Given the description of an element on the screen output the (x, y) to click on. 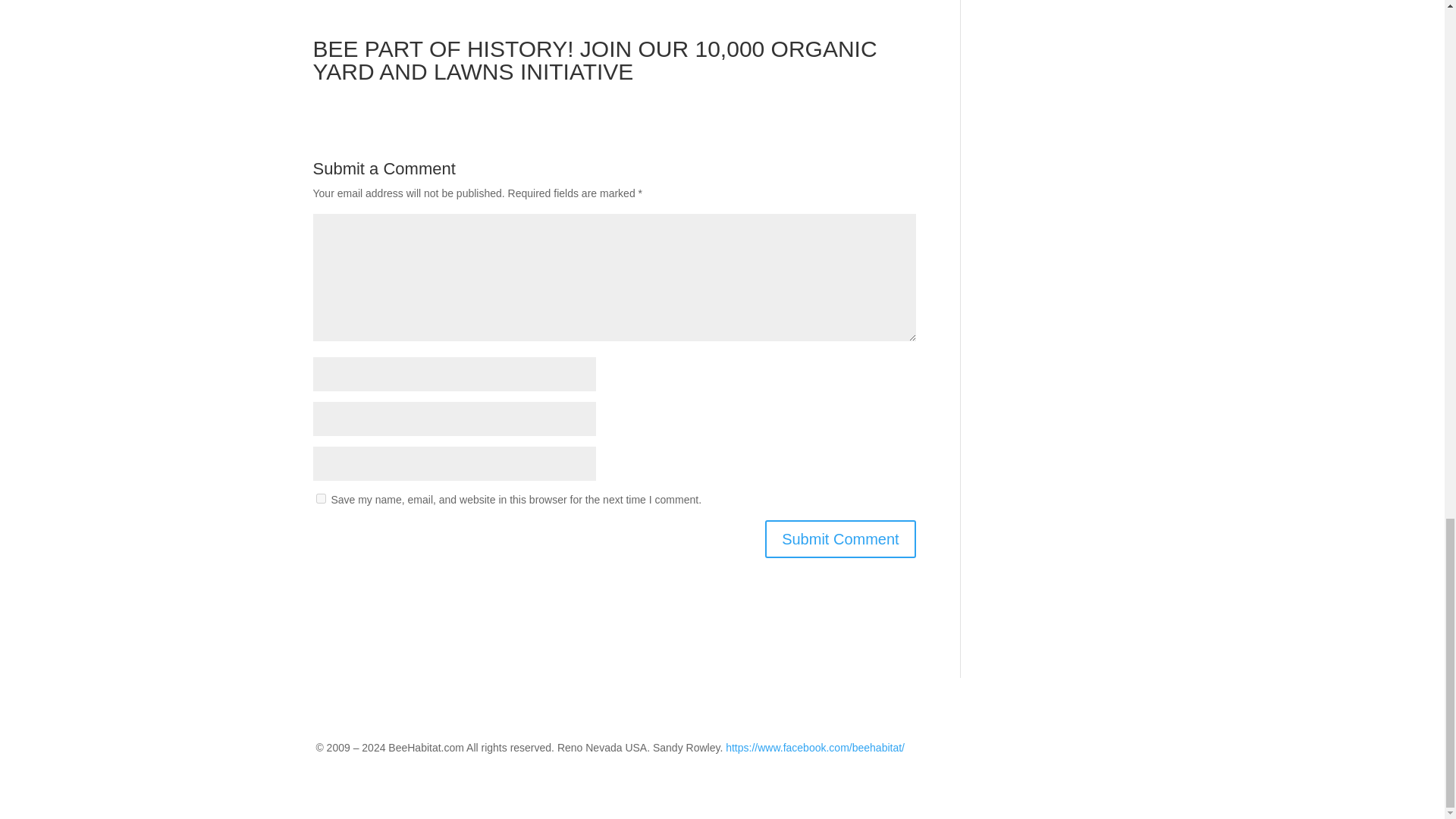
Submit Comment (840, 538)
Submit Comment (840, 538)
yes (319, 498)
